Given the description of an element on the screen output the (x, y) to click on. 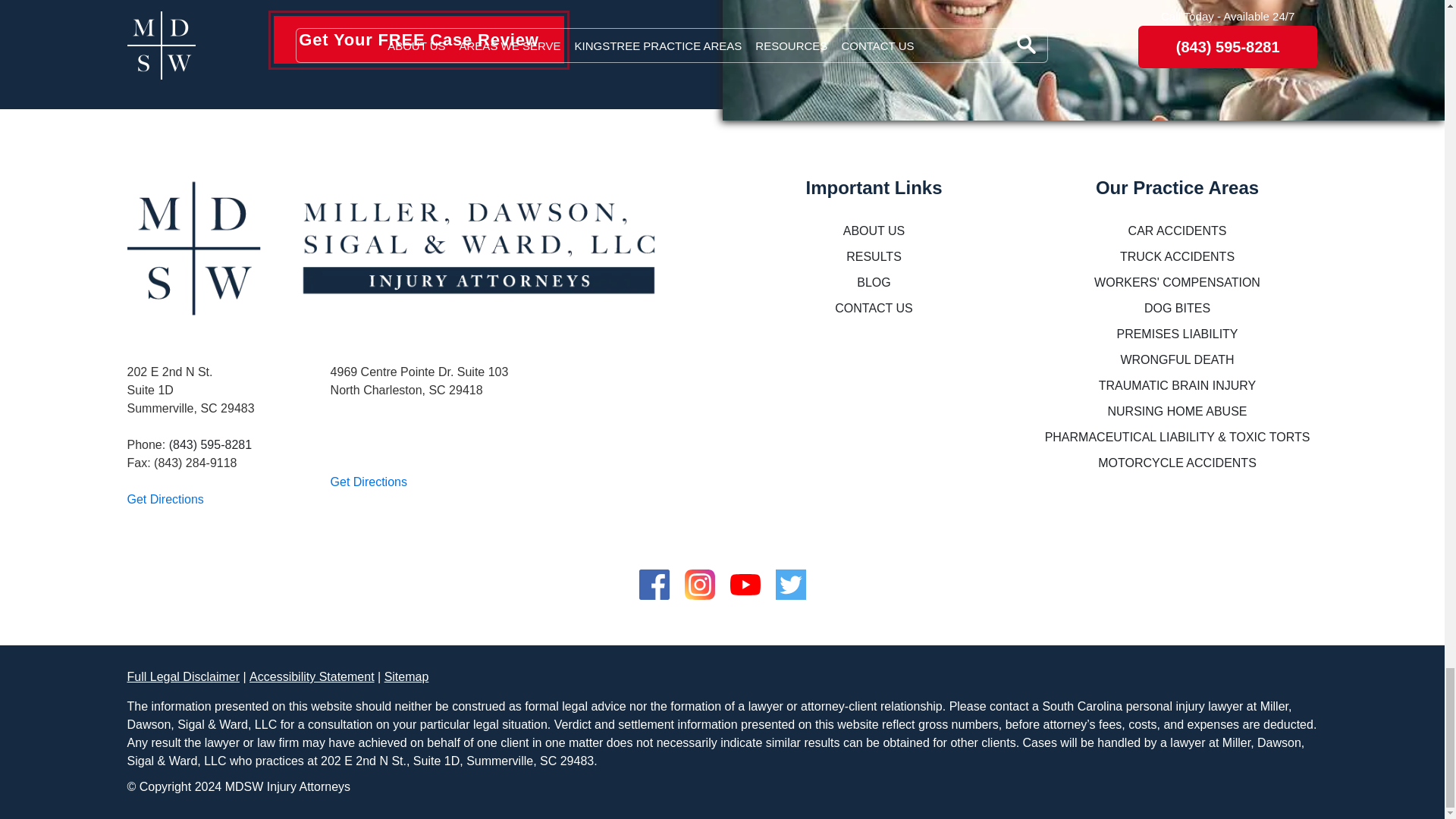
Instagram (699, 577)
phone (209, 444)
Youtube (744, 577)
Twitter (789, 577)
Facebook (653, 577)
